Given the description of an element on the screen output the (x, y) to click on. 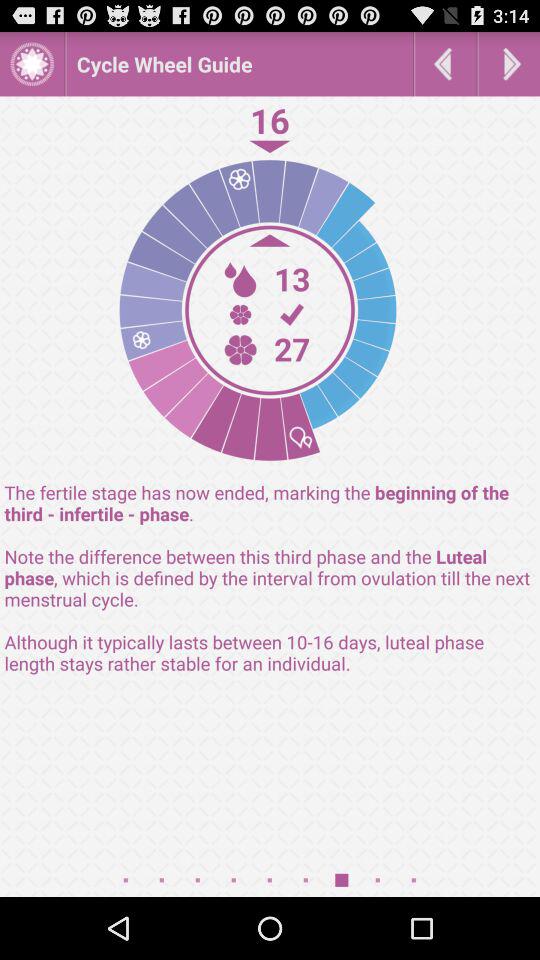
go next (509, 63)
